Given the description of an element on the screen output the (x, y) to click on. 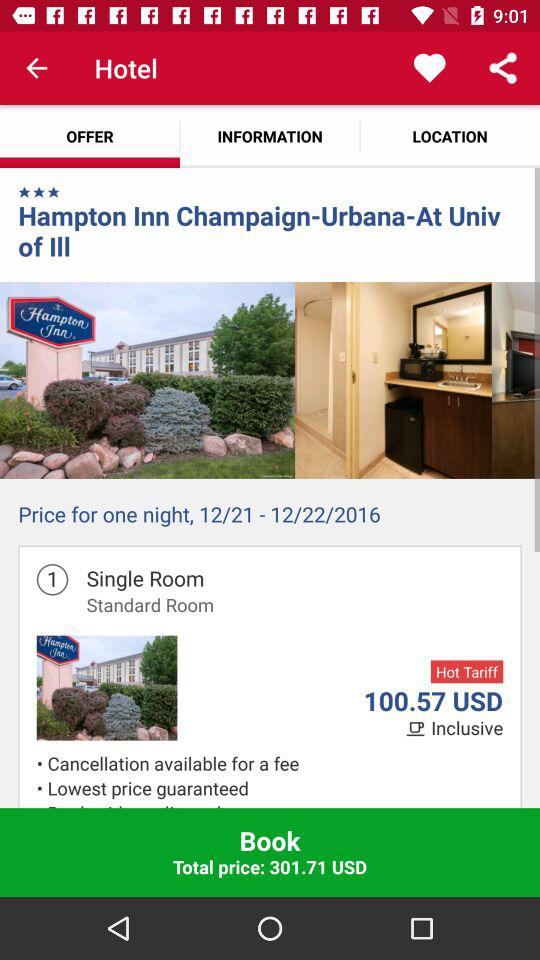
jump until the lowest price guaranteed item (275, 787)
